Given the description of an element on the screen output the (x, y) to click on. 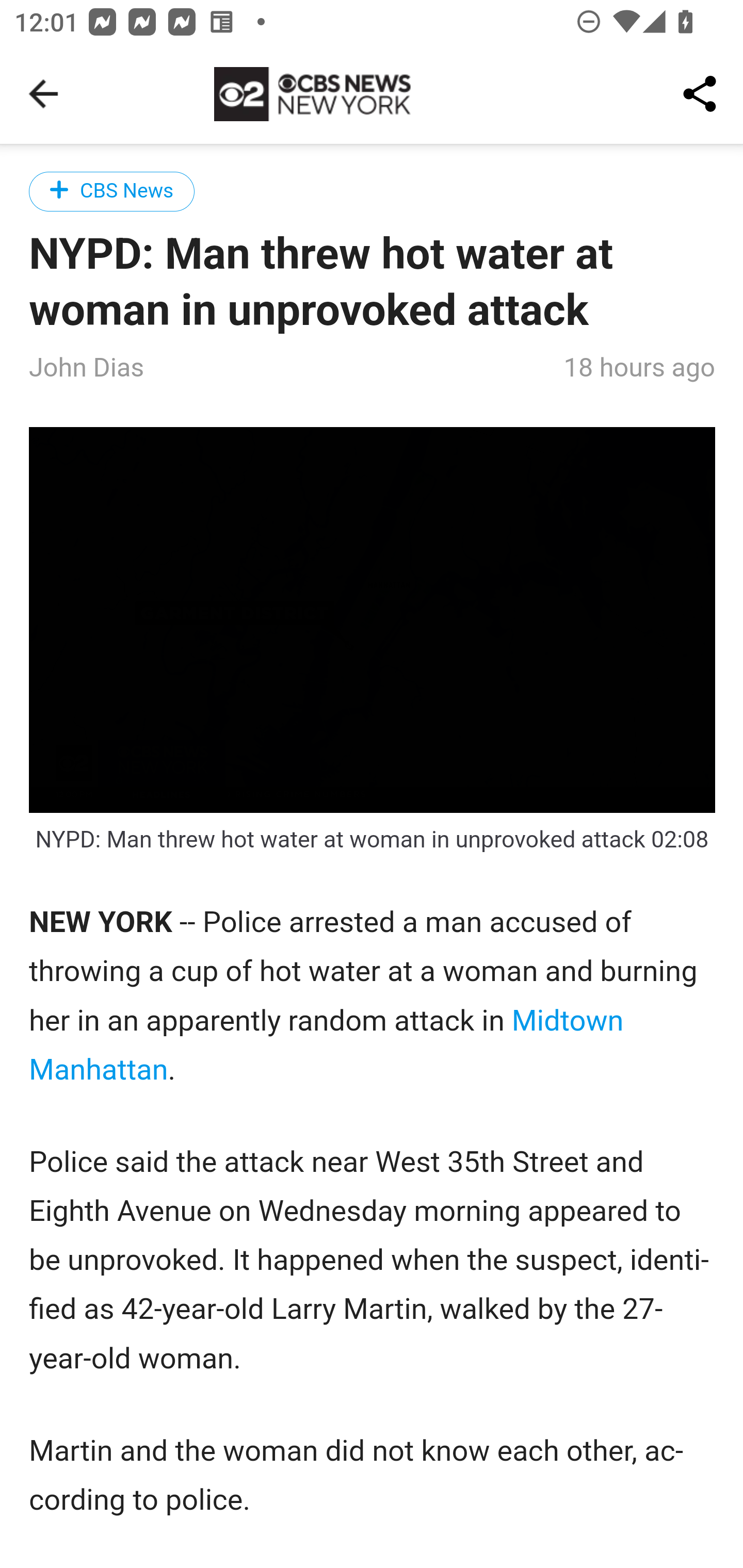
CBS News (112, 191)
Midtown Manhattan (326, 1045)
